Given the description of an element on the screen output the (x, y) to click on. 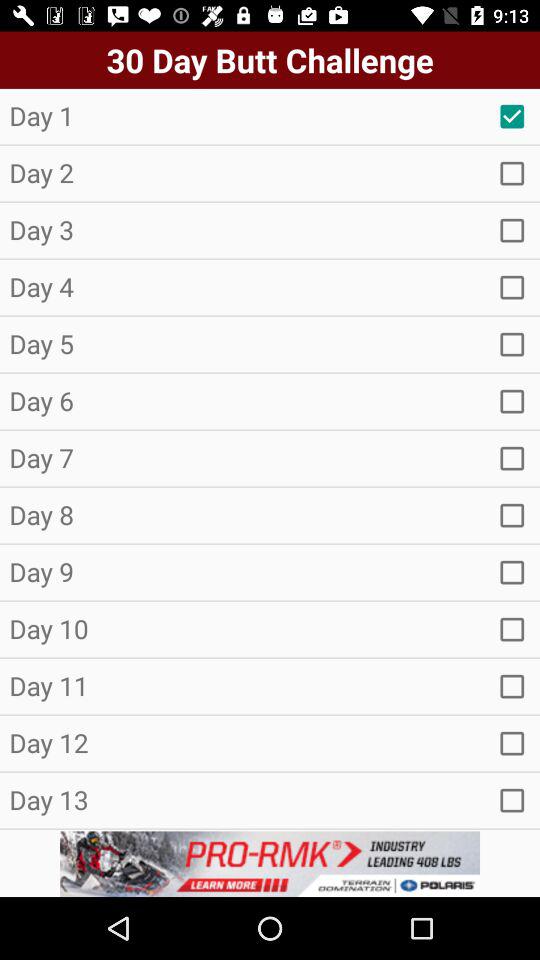
unselect day 1 (512, 116)
